Given the description of an element on the screen output the (x, y) to click on. 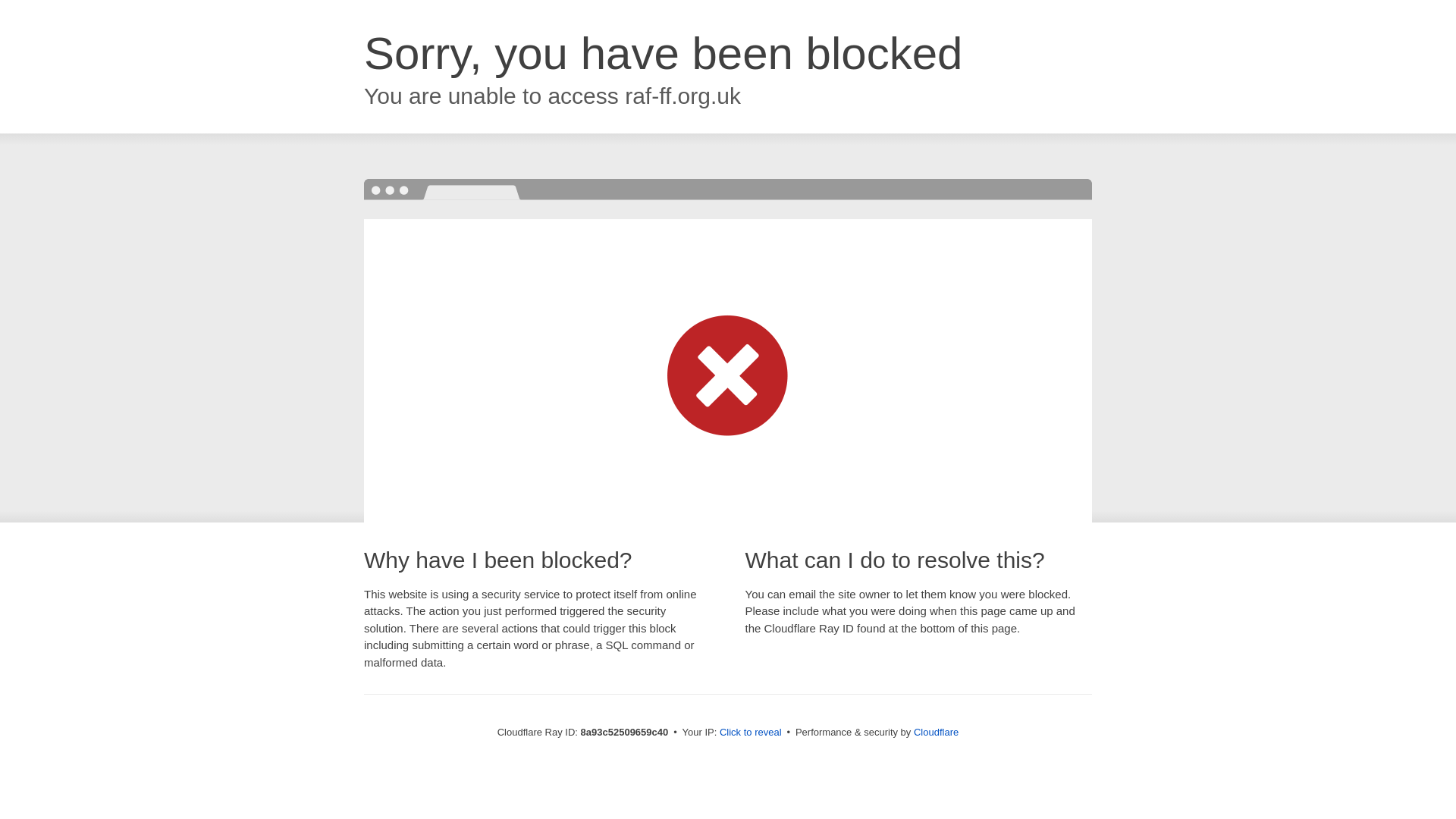
Cloudflare (936, 731)
Click to reveal (750, 732)
